Given the description of an element on the screen output the (x, y) to click on. 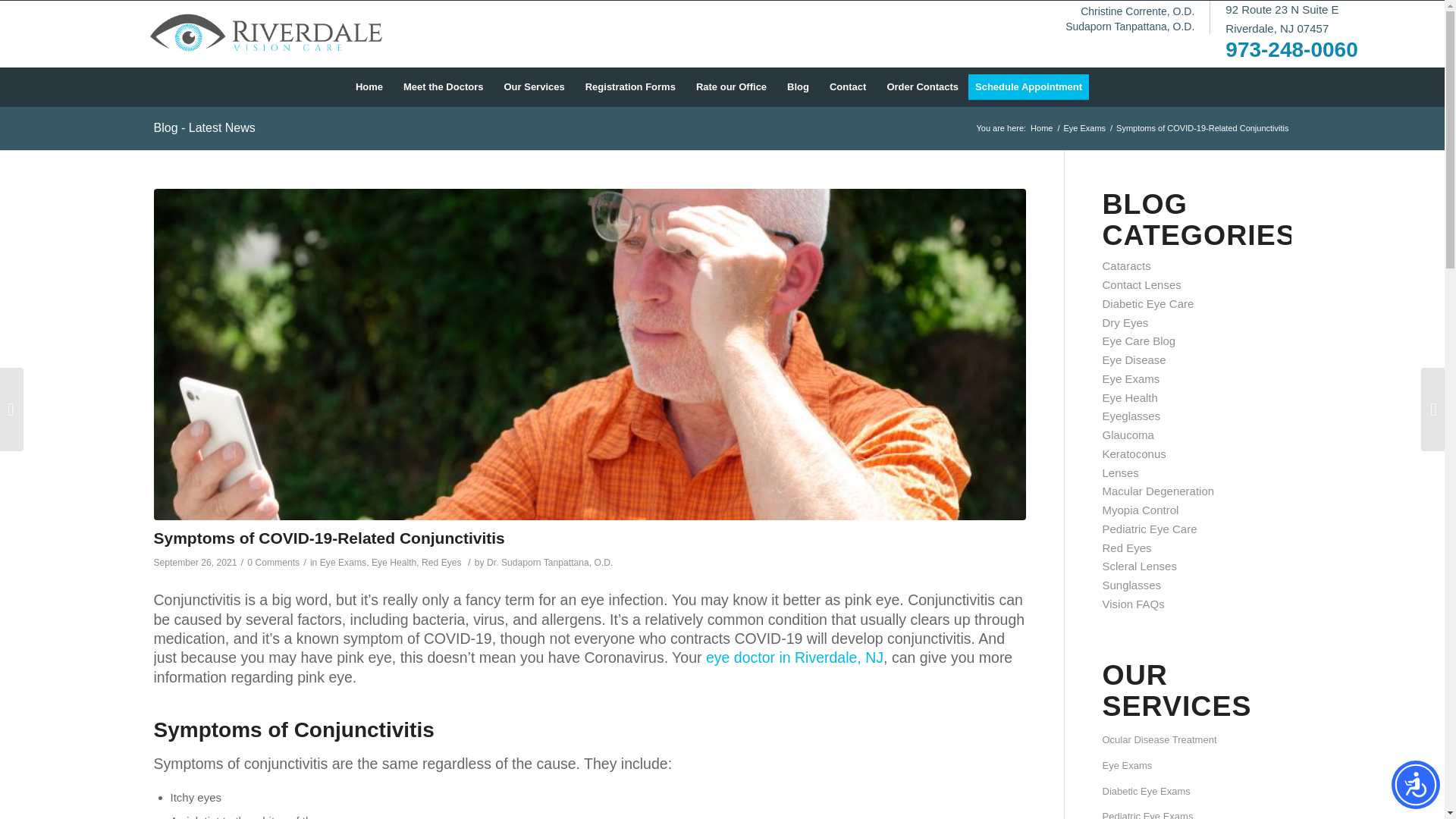
Contact (847, 86)
Blog - Latest News (203, 127)
Home (369, 86)
Rate our Office (730, 86)
Our Services (533, 86)
Home (1040, 128)
Permanent Link: Blog - Latest News (203, 127)
Eye Exams (1084, 128)
0 Comments (273, 562)
Accessibility Menu (1415, 784)
Registration Forms (630, 86)
Schedule Appointment (1033, 86)
Symptoms of COVID-19-Related Conjunctivitis (327, 538)
Meet the Doctors (443, 86)
